Given the description of an element on the screen output the (x, y) to click on. 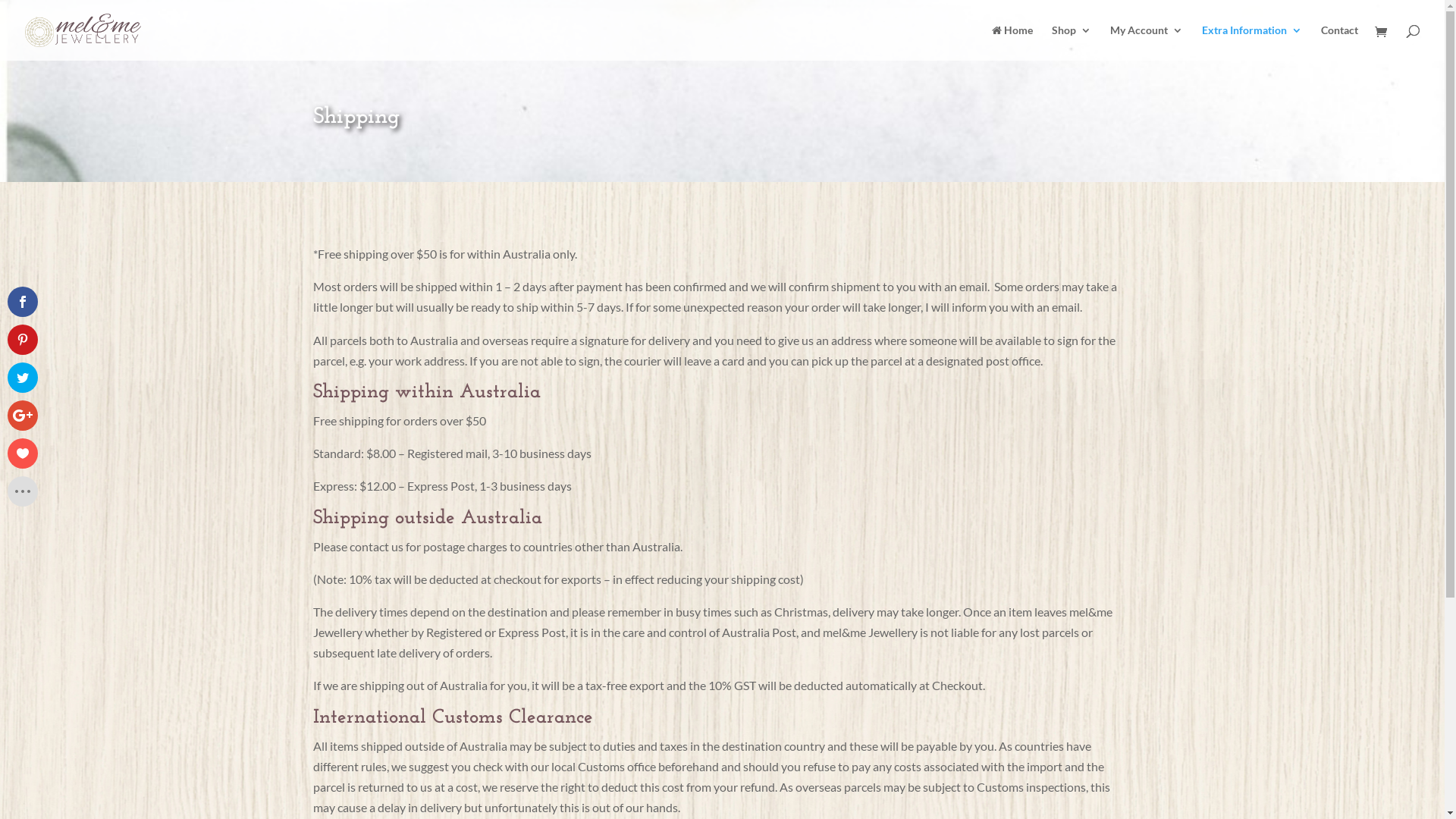
Contact Element type: text (1339, 42)
Shop Element type: text (1071, 42)
My Account Element type: text (1146, 42)
Extra Information Element type: text (1251, 42)
Home Element type: text (1011, 42)
